Given the description of an element on the screen output the (x, y) to click on. 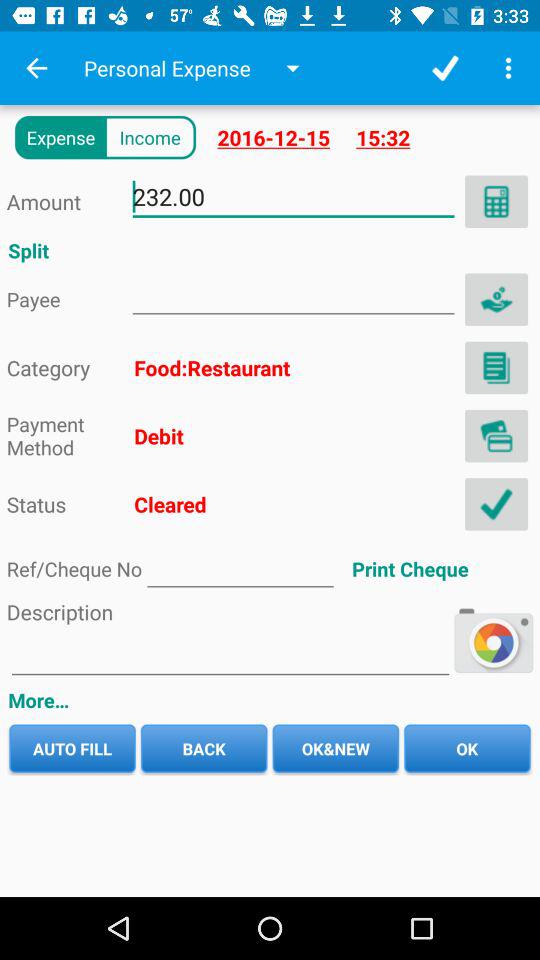
tout pega (508, 67)
